Given the description of an element on the screen output the (x, y) to click on. 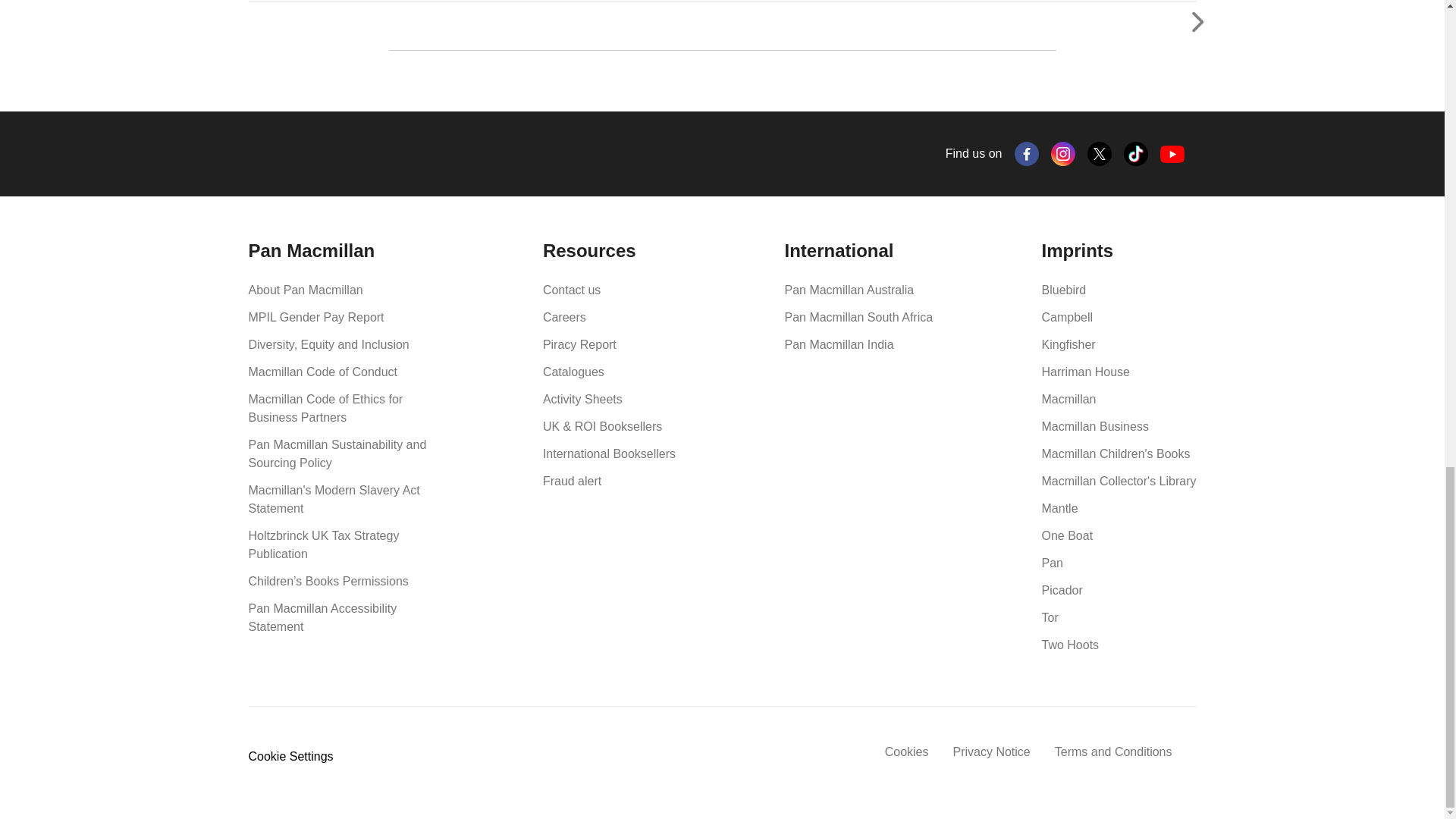
Facebook (1026, 153)
TikTok (1136, 153)
YouTube (1172, 153)
Instagram (1063, 153)
